Given the description of an element on the screen output the (x, y) to click on. 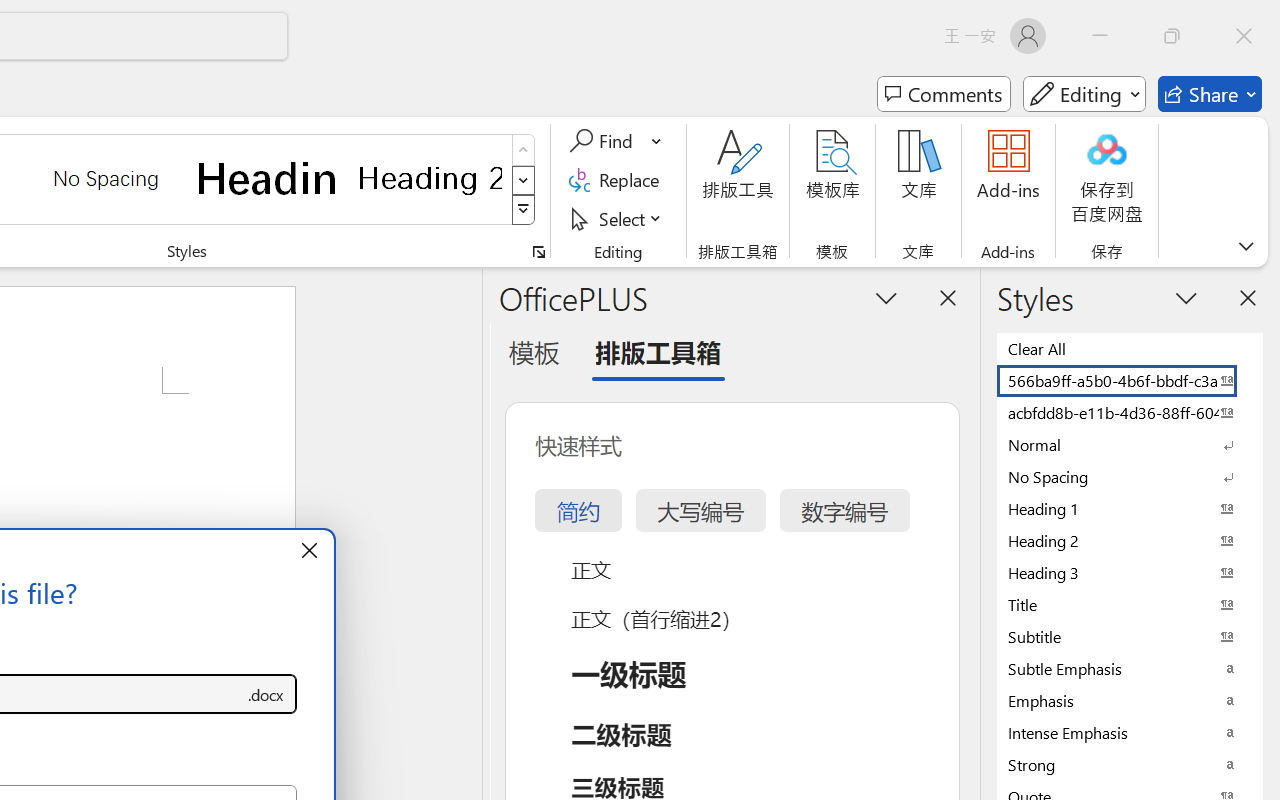
Clear All (1130, 348)
Subtle Emphasis (1130, 668)
Row up (523, 150)
Restore Down (1172, 36)
Select (618, 218)
acbfdd8b-e11b-4d36-88ff-6049b138f862 (1130, 412)
Find (616, 141)
Minimize (1099, 36)
Intense Emphasis (1130, 732)
Styles... (538, 252)
No Spacing (1130, 476)
Class: NetUIImage (523, 210)
